Given the description of an element on the screen output the (x, y) to click on. 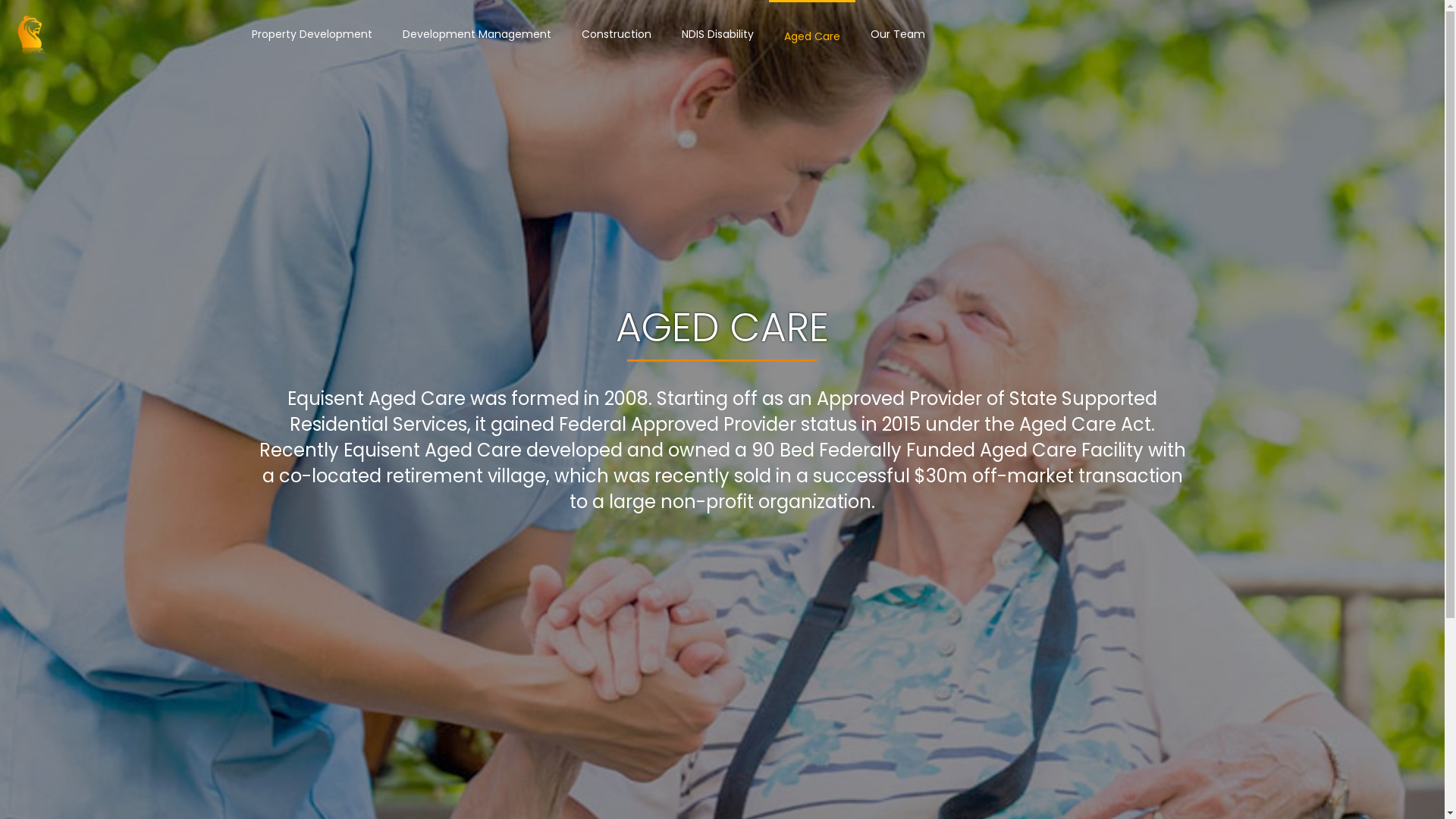
Construction Element type: text (616, 34)
NDIS Disability Element type: text (717, 34)
Aged Care Element type: text (811, 35)
Property Development Element type: text (311, 34)
Development Management Element type: text (476, 34)
Our Team Element type: text (897, 34)
Equisent Element type: hover (33, 34)
